Given the description of an element on the screen output the (x, y) to click on. 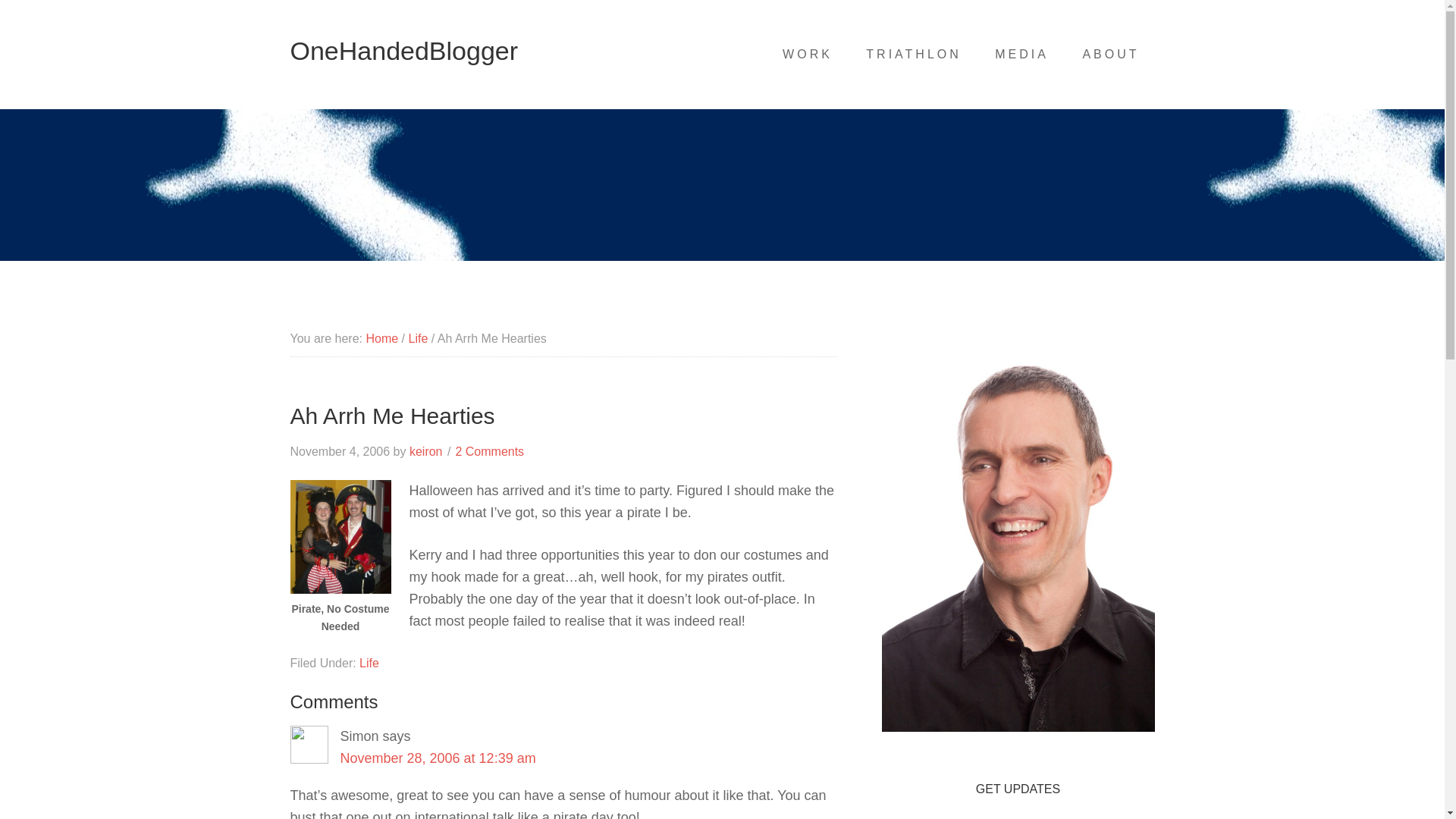
keiron (425, 451)
WORK (807, 54)
Life (417, 338)
TRIATHLON (912, 54)
OneHandedBlogger (403, 50)
MEDIA (1021, 54)
Home (381, 338)
ABOUT (1110, 54)
November 28, 2006 at 12:39 am (437, 758)
2 Comments (489, 451)
Life (368, 662)
